Given the description of an element on the screen output the (x, y) to click on. 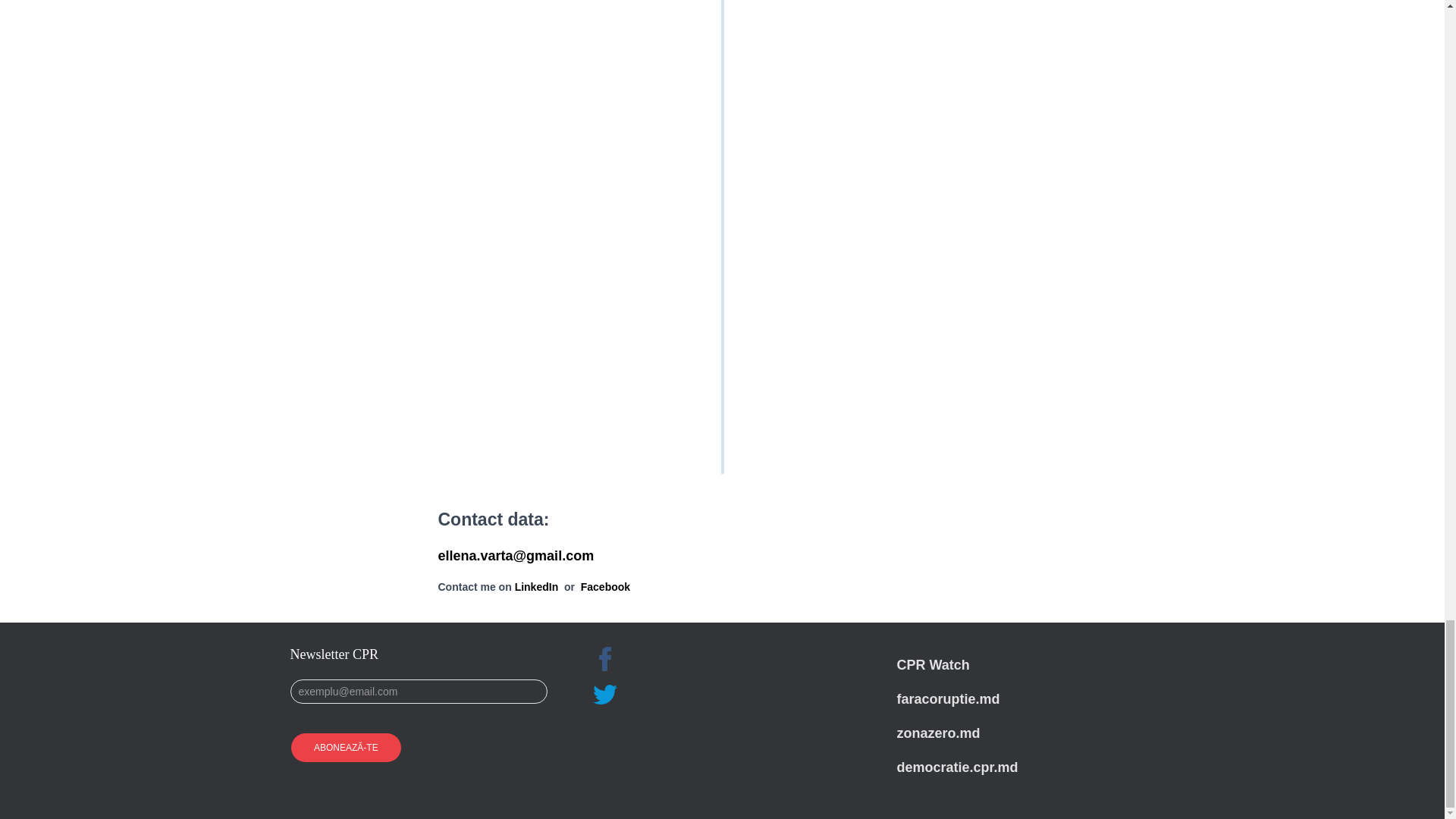
Facebook (605, 586)
CPR Watch (932, 664)
LinkedIn (537, 586)
zonazero.md (937, 733)
democratie.cpr.md (956, 767)
faracoruptie.md (947, 698)
